Given the description of an element on the screen output the (x, y) to click on. 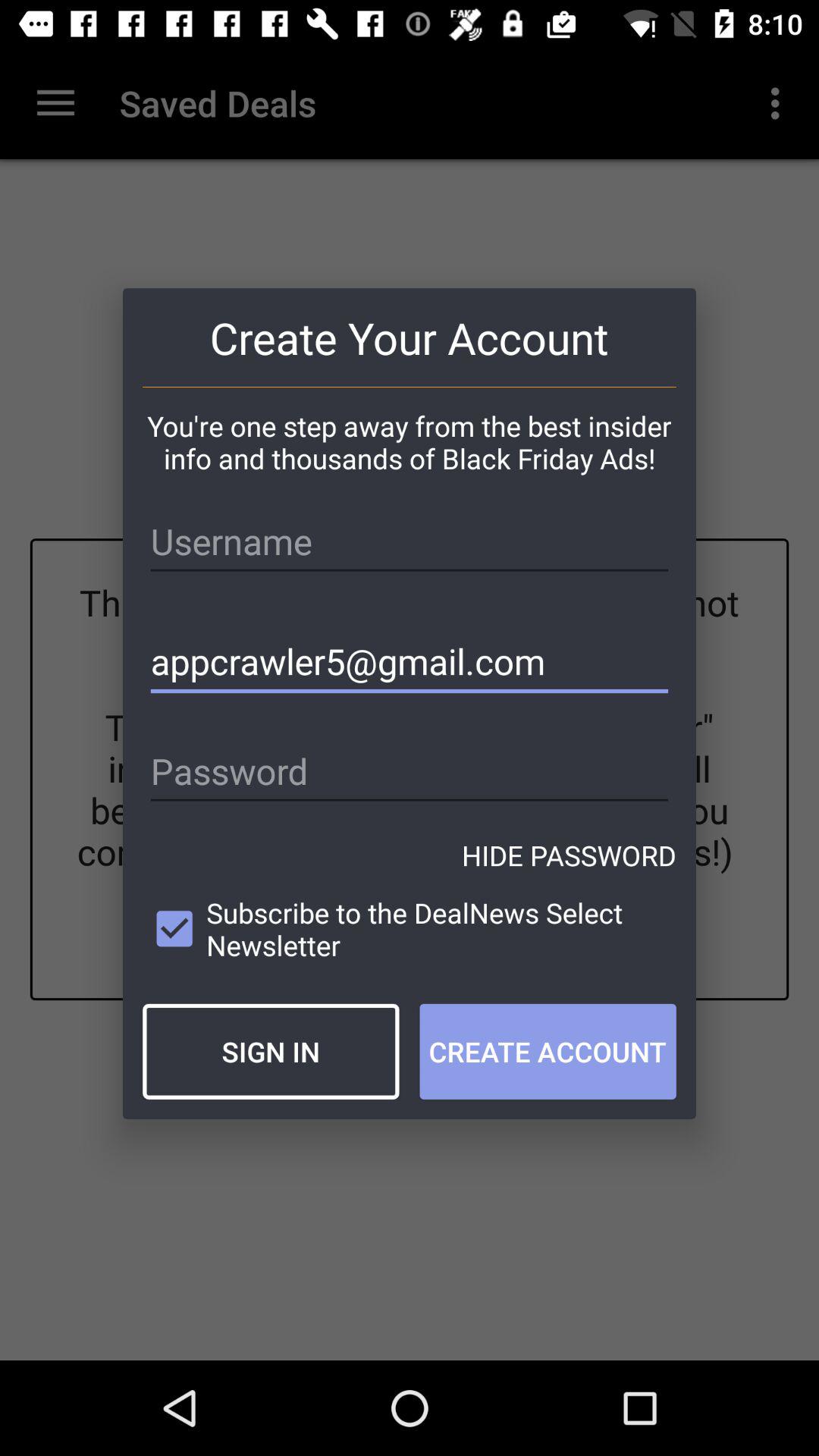
open the item above the hide password icon (409, 771)
